Given the description of an element on the screen output the (x, y) to click on. 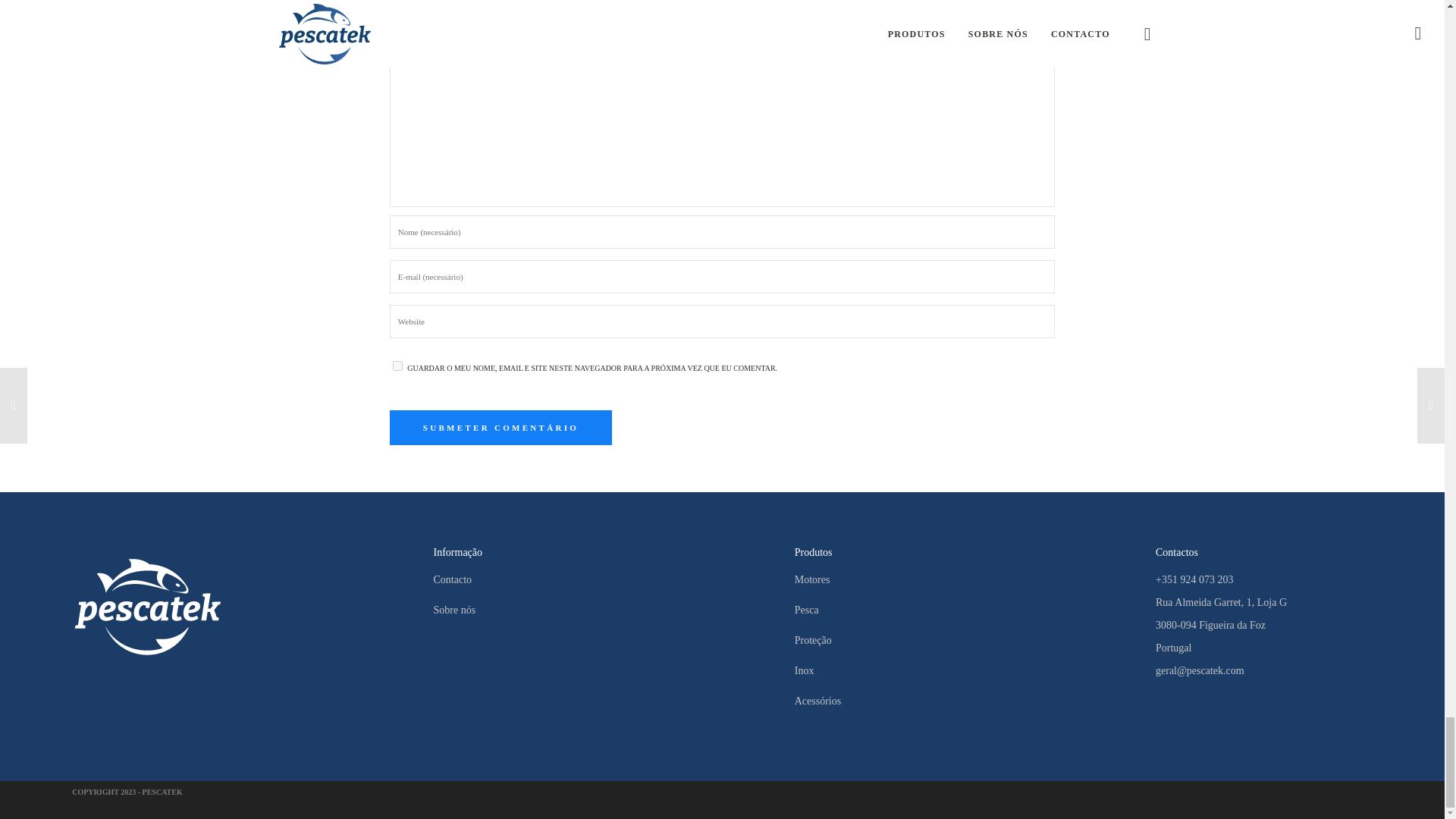
yes (398, 366)
Open address in Google Maps (1264, 625)
